Given the description of an element on the screen output the (x, y) to click on. 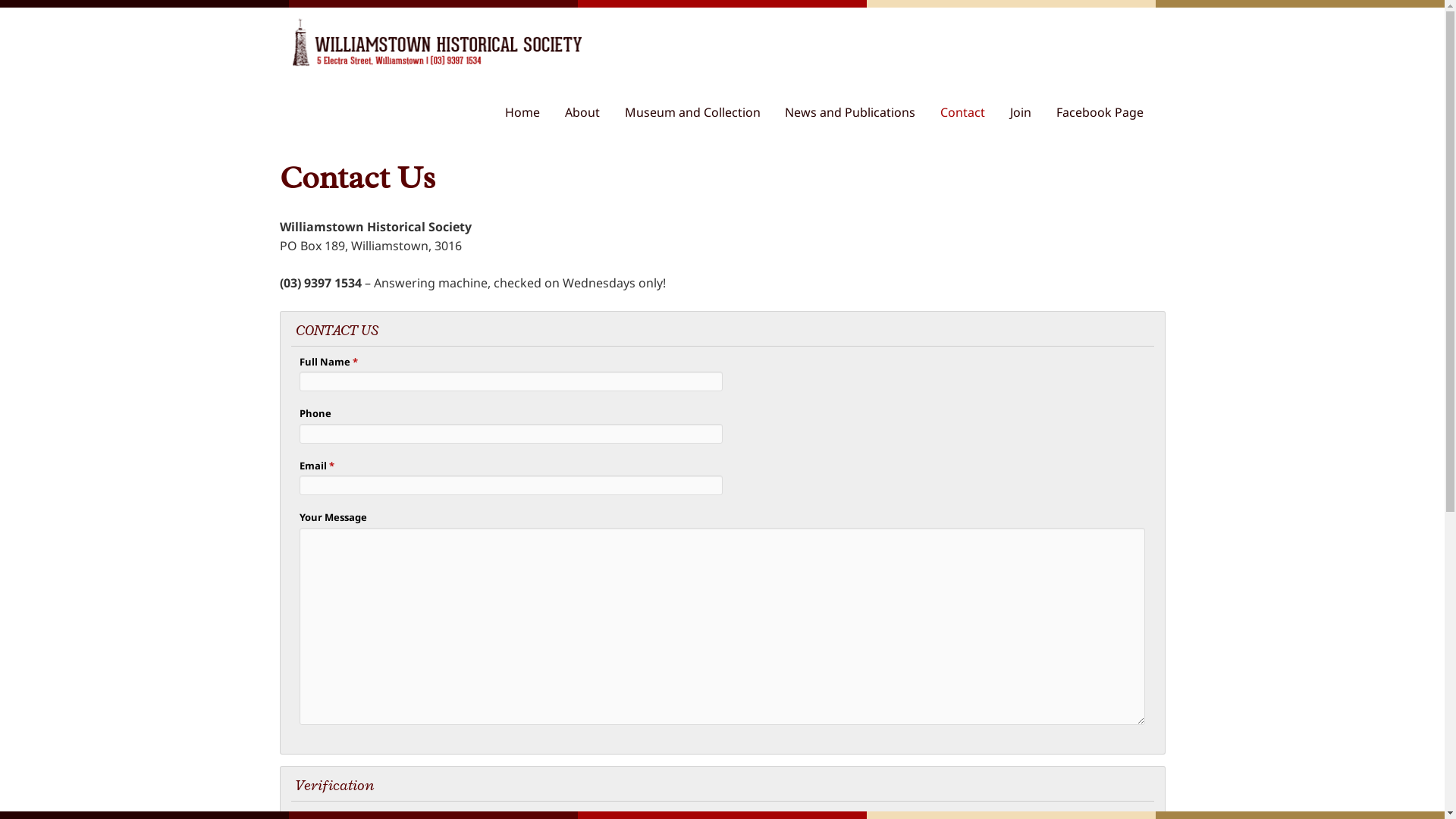
News and Publications Element type: text (855, 112)
Home Element type: text (528, 112)
Join Element type: text (1026, 112)
Museum and Collection Element type: text (698, 112)
Contact Element type: text (968, 112)
Facebook Page Element type: text (1105, 112)
About Element type: text (587, 112)
